Given the description of an element on the screen output the (x, y) to click on. 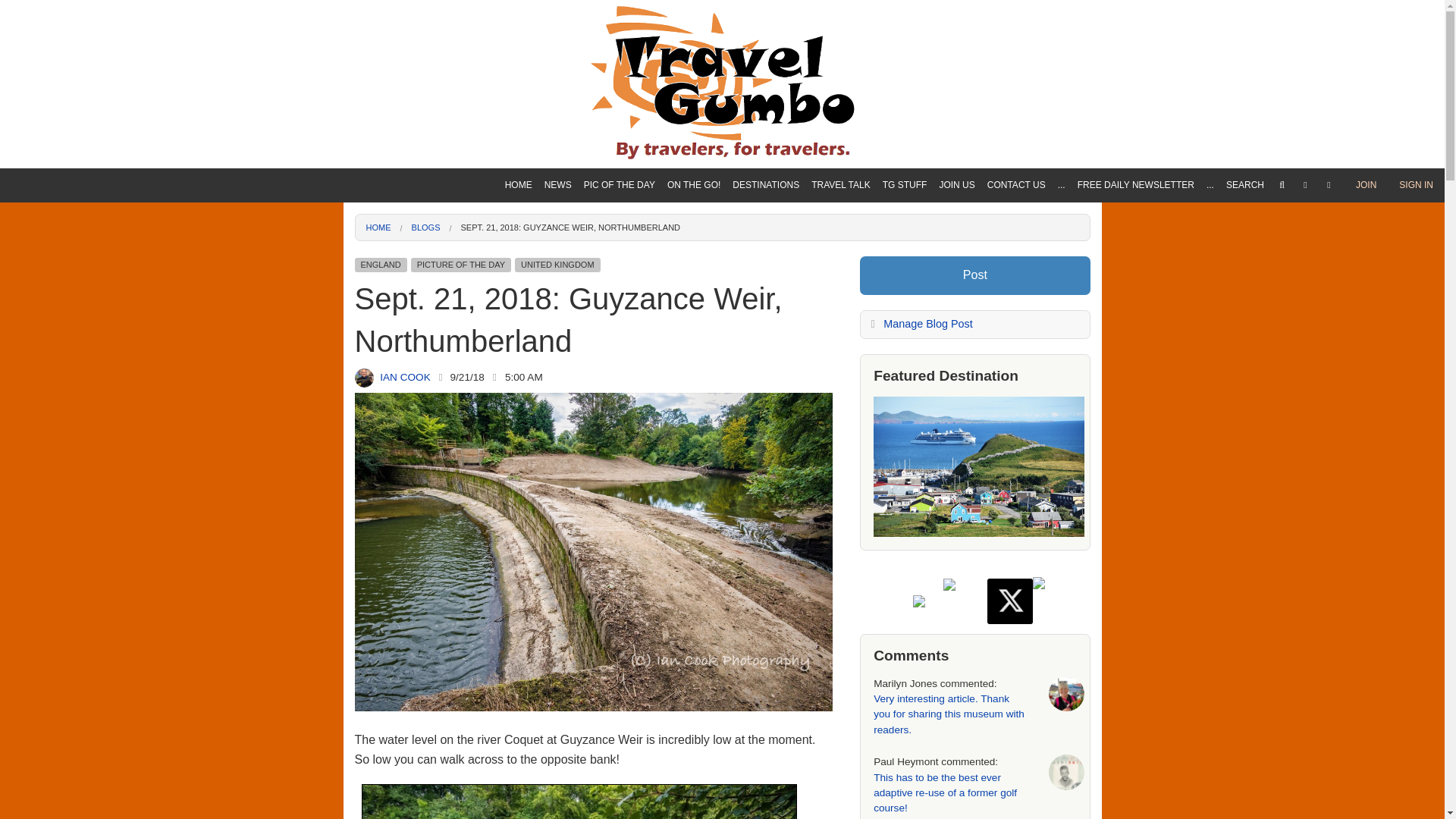
DESTINATIONS (765, 185)
NEWS (558, 185)
ANTARCTICA (765, 375)
HOME (518, 185)
GENERAL DISCUSSIONS (840, 242)
NORTH AMERICA AND THE CARIBBEAN (765, 322)
Marilyn Jones (1066, 693)
ASIA (765, 242)
CENTRAL AND SOUTH AMERICA (765, 348)
Ian Cook is offline. (439, 377)
